Given the description of an element on the screen output the (x, y) to click on. 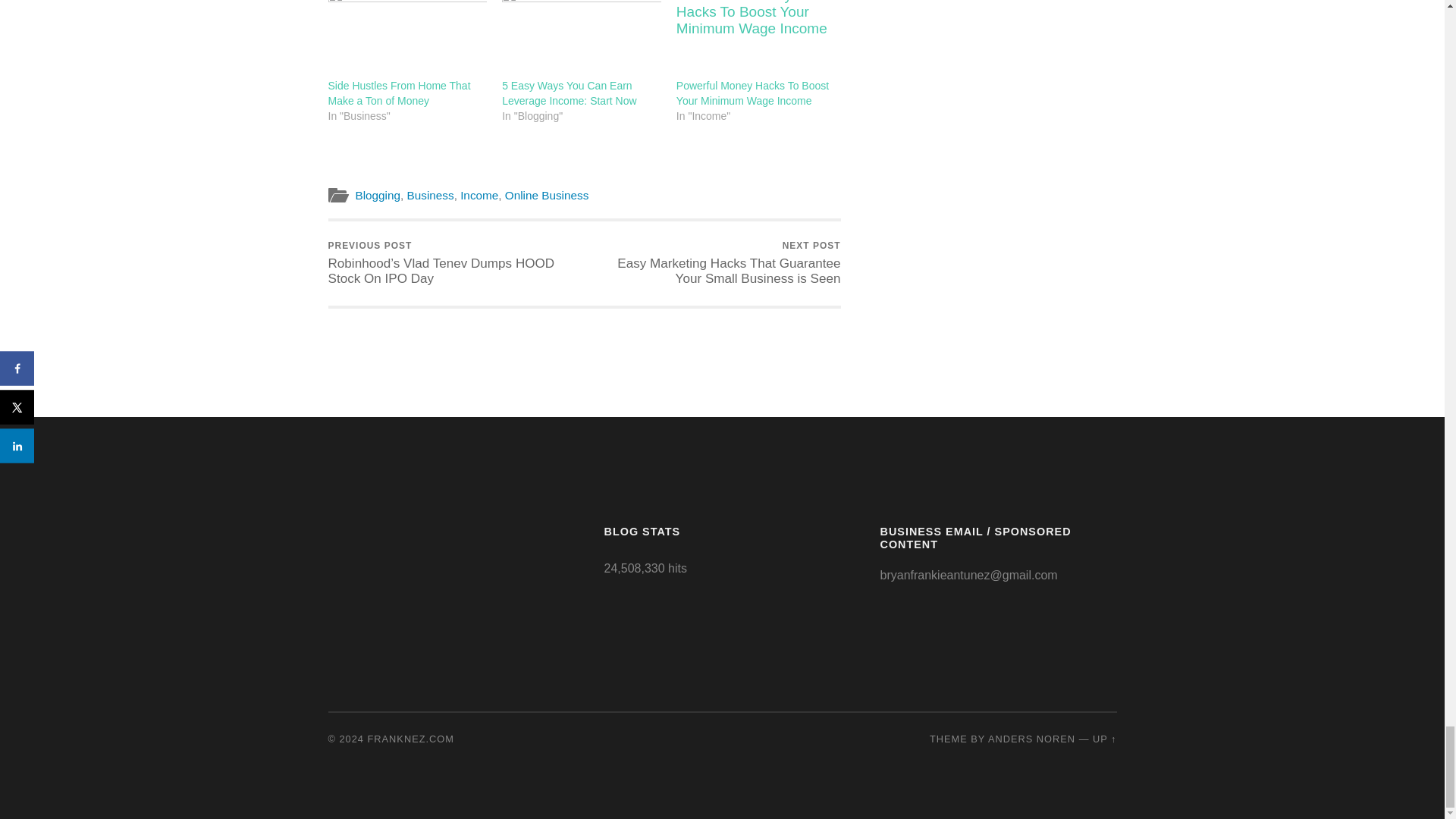
Side Hustles From Home That Make a Ton of Money (398, 93)
5 Easy Ways You Can Earn Leverage Income: Start Now (581, 38)
Side Hustles From Home That Make a Ton of Money (398, 93)
5 Easy Ways You Can Earn Leverage Income: Start Now (569, 93)
Side Hustles From Home That Make a Ton of Money (406, 38)
5 Easy Ways You Can Earn Leverage Income: Start Now (569, 93)
Powerful Money Hacks To Boost Your Minimum Wage Income (752, 93)
Powerful Money Hacks To Boost Your Minimum Wage Income (752, 93)
Powerful Money Hacks To Boost Your Minimum Wage Income (756, 38)
